Given the description of an element on the screen output the (x, y) to click on. 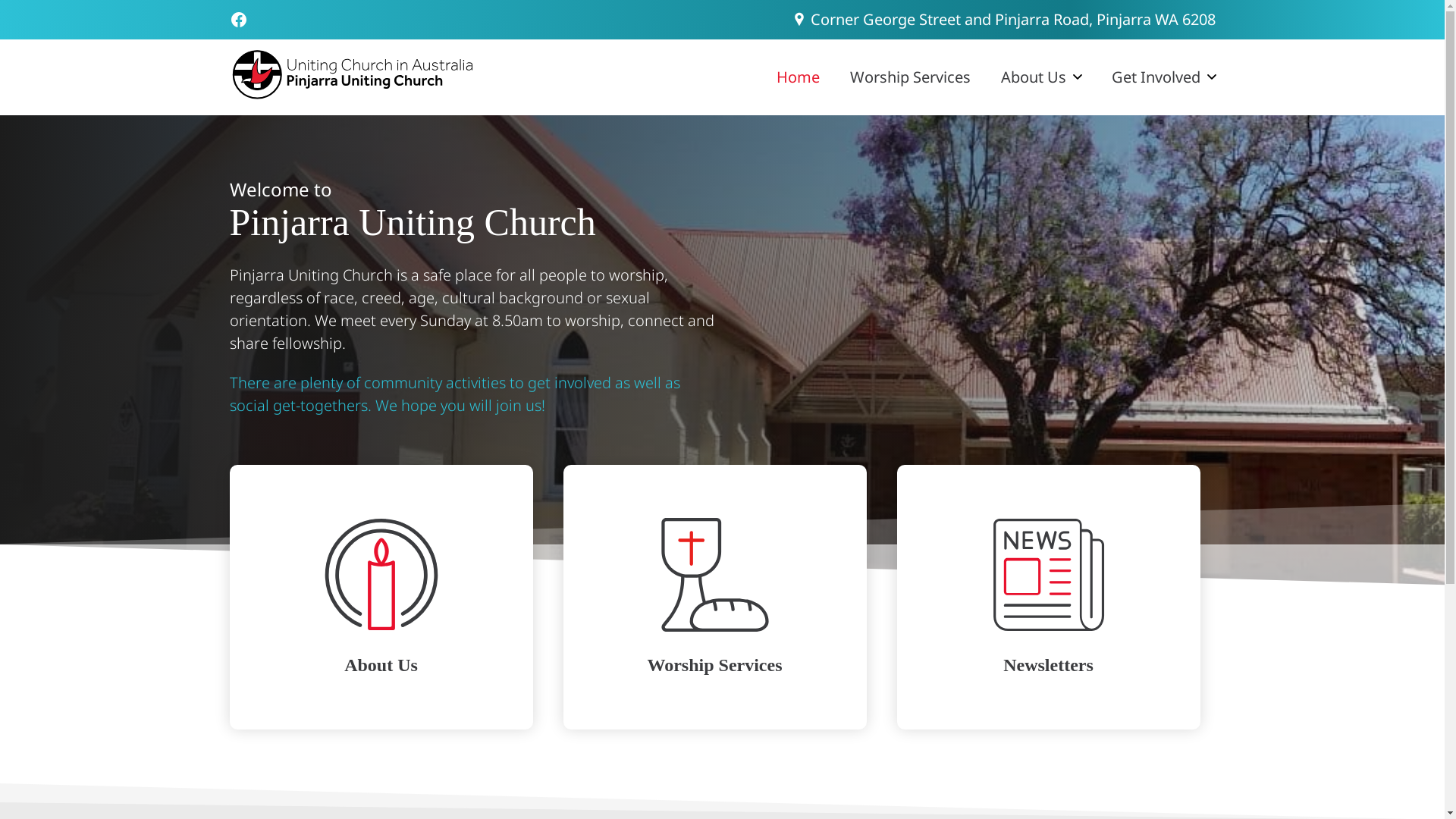
Worship Services Element type: text (909, 76)
Newsletters Element type: text (1047, 596)
Get Involved Element type: text (1155, 76)
About Us Element type: text (1033, 76)
Worship Services Element type: text (714, 596)
About Us Element type: text (380, 596)
Home Element type: text (797, 76)
